Given the description of an element on the screen output the (x, y) to click on. 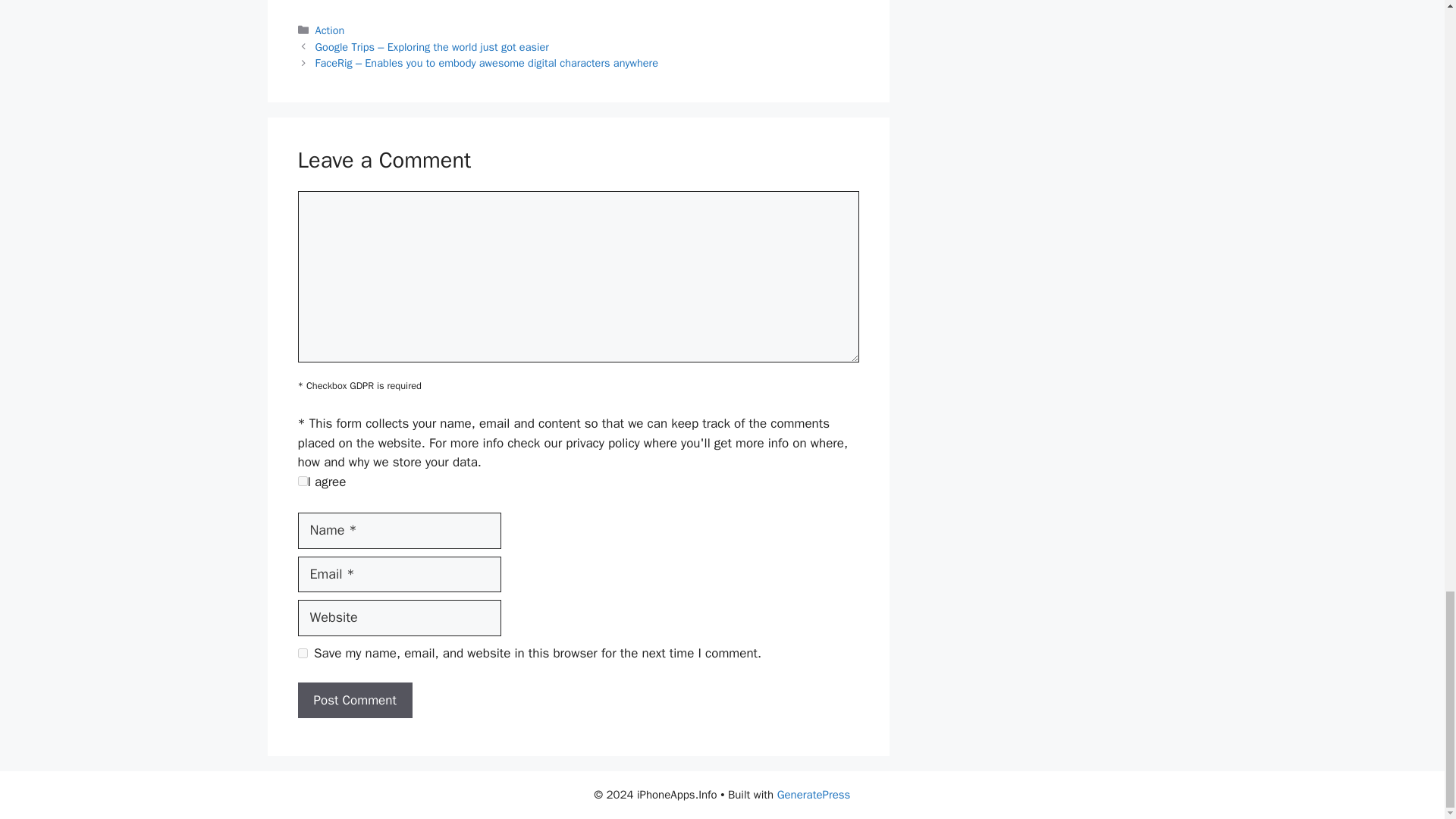
on (302, 480)
yes (302, 653)
Post Comment (354, 700)
